Given the description of an element on the screen output the (x, y) to click on. 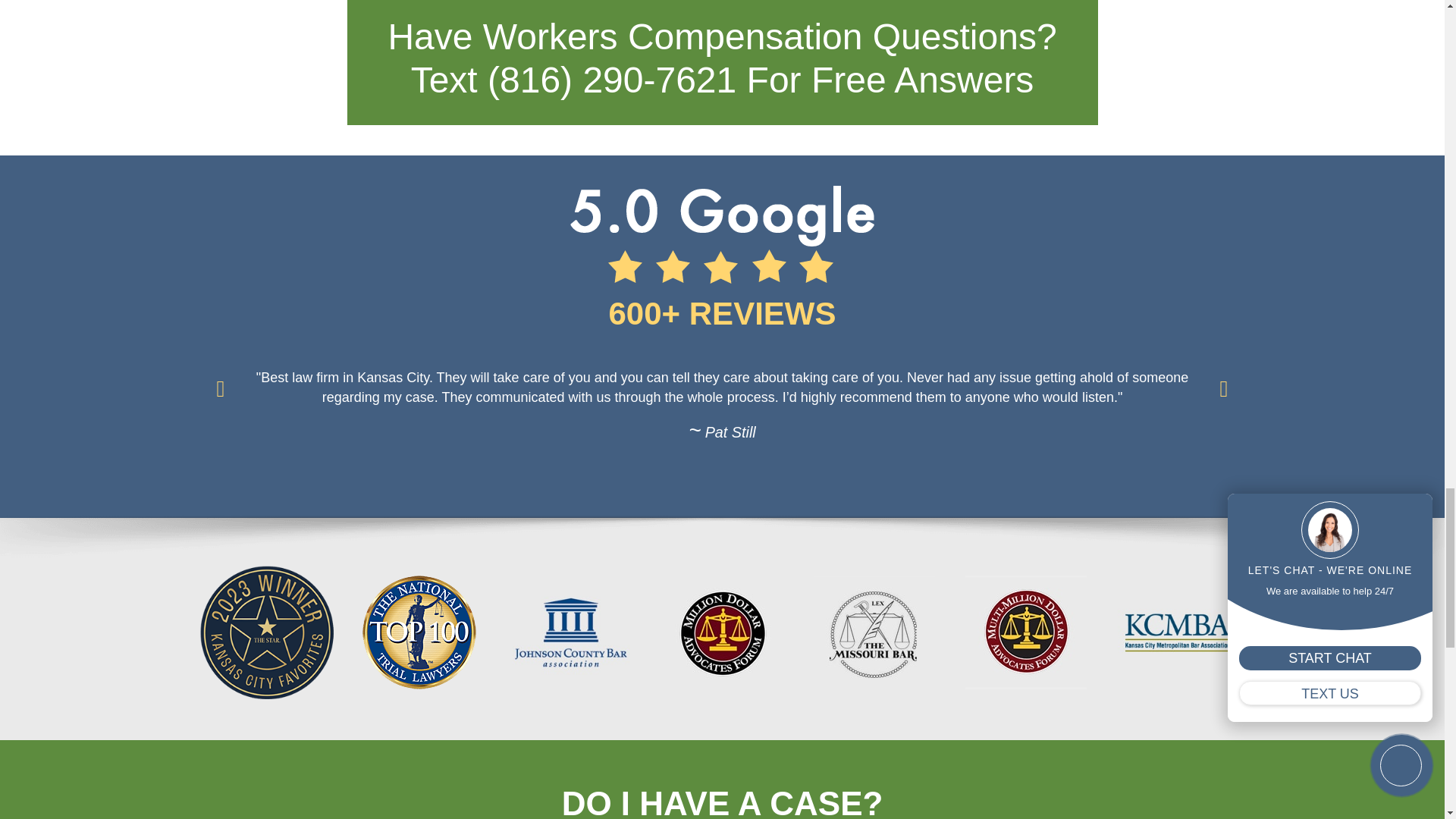
5-Star-Google-reviews (722, 234)
